Given the description of an element on the screen output the (x, y) to click on. 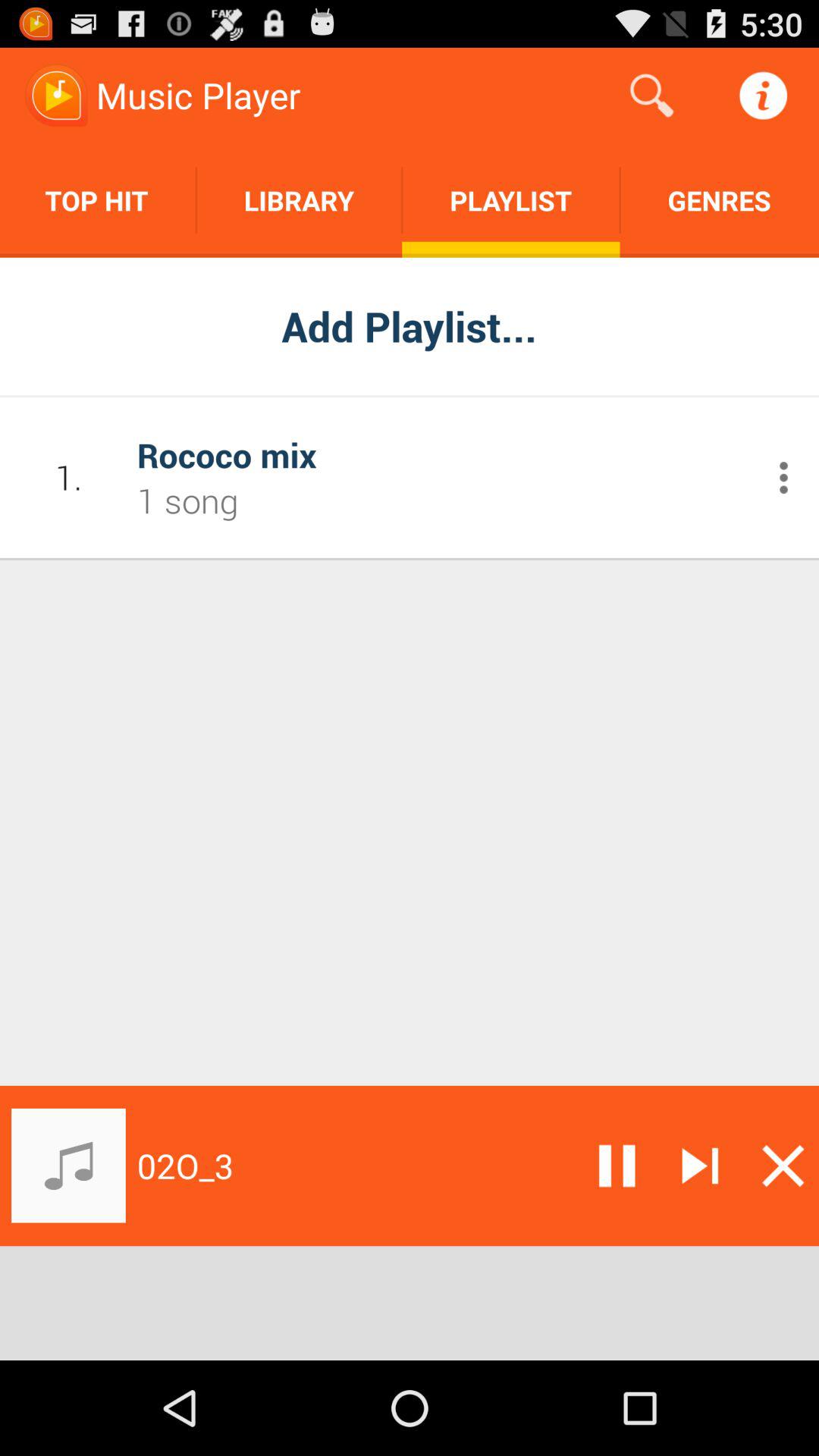
additional options (783, 477)
